Given the description of an element on the screen output the (x, y) to click on. 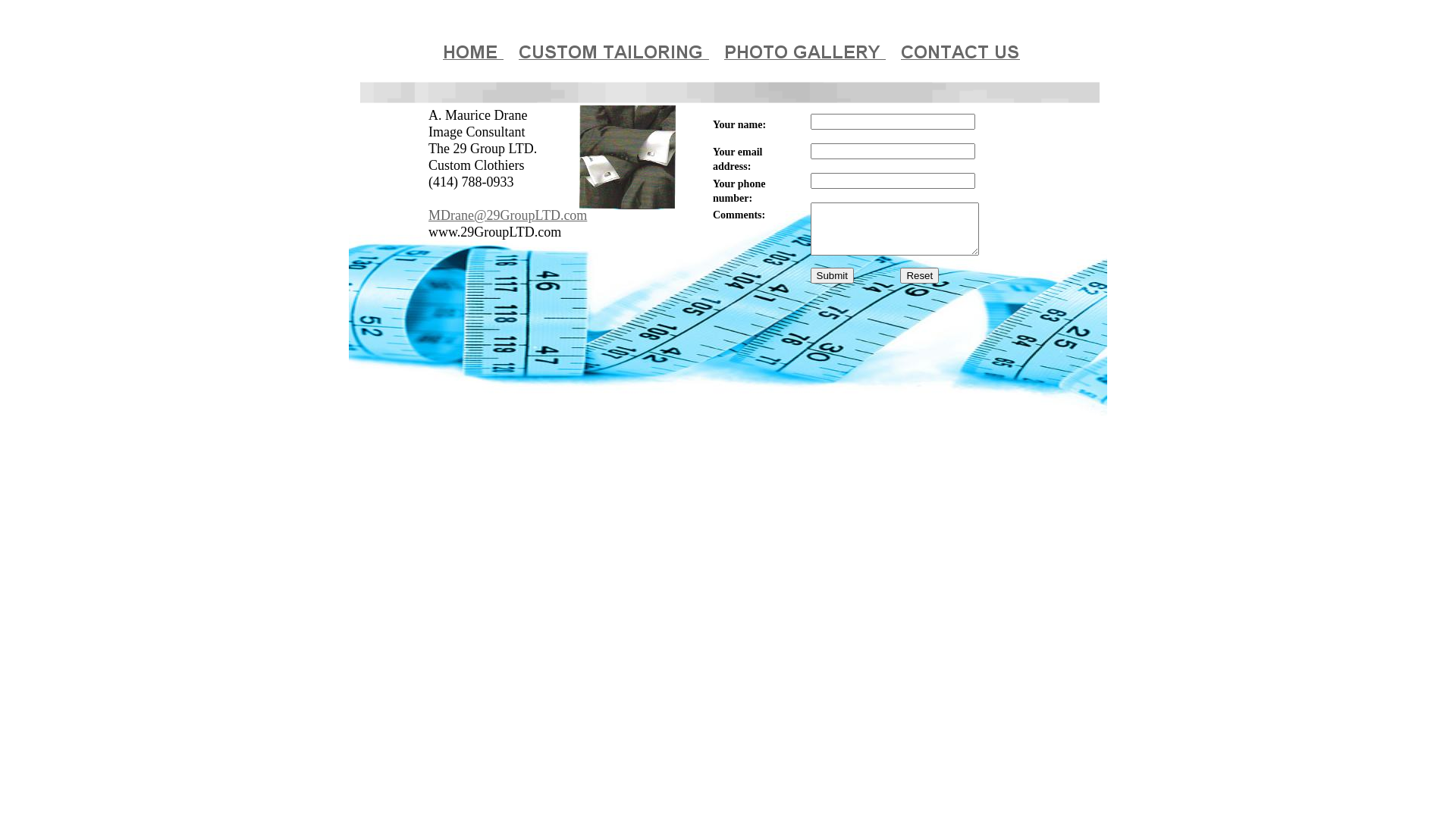
Submit Element type: text (831, 275)
MDrane@29GroupLTD.com Element type: text (507, 216)
